Given the description of an element on the screen output the (x, y) to click on. 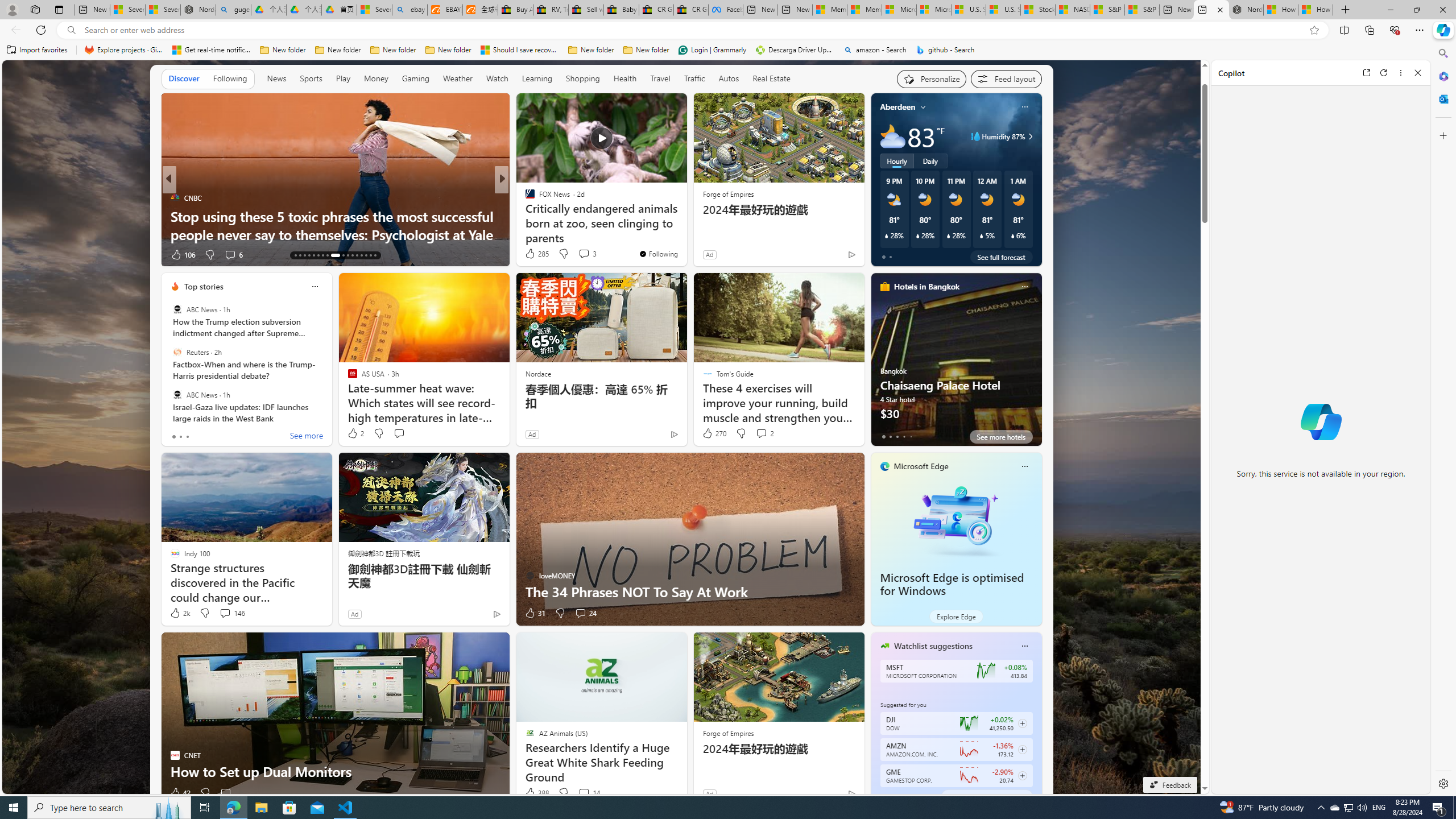
View comments 3 Comment (587, 253)
View comments 24 Comment (585, 612)
How to Use a Monitor With Your Closed Laptop (1315, 9)
AutomationID: tab-22 (339, 255)
Settings (1442, 783)
Weather (457, 79)
42 Like (179, 792)
Class: follow-button  m (1021, 775)
